Given the description of an element on the screen output the (x, y) to click on. 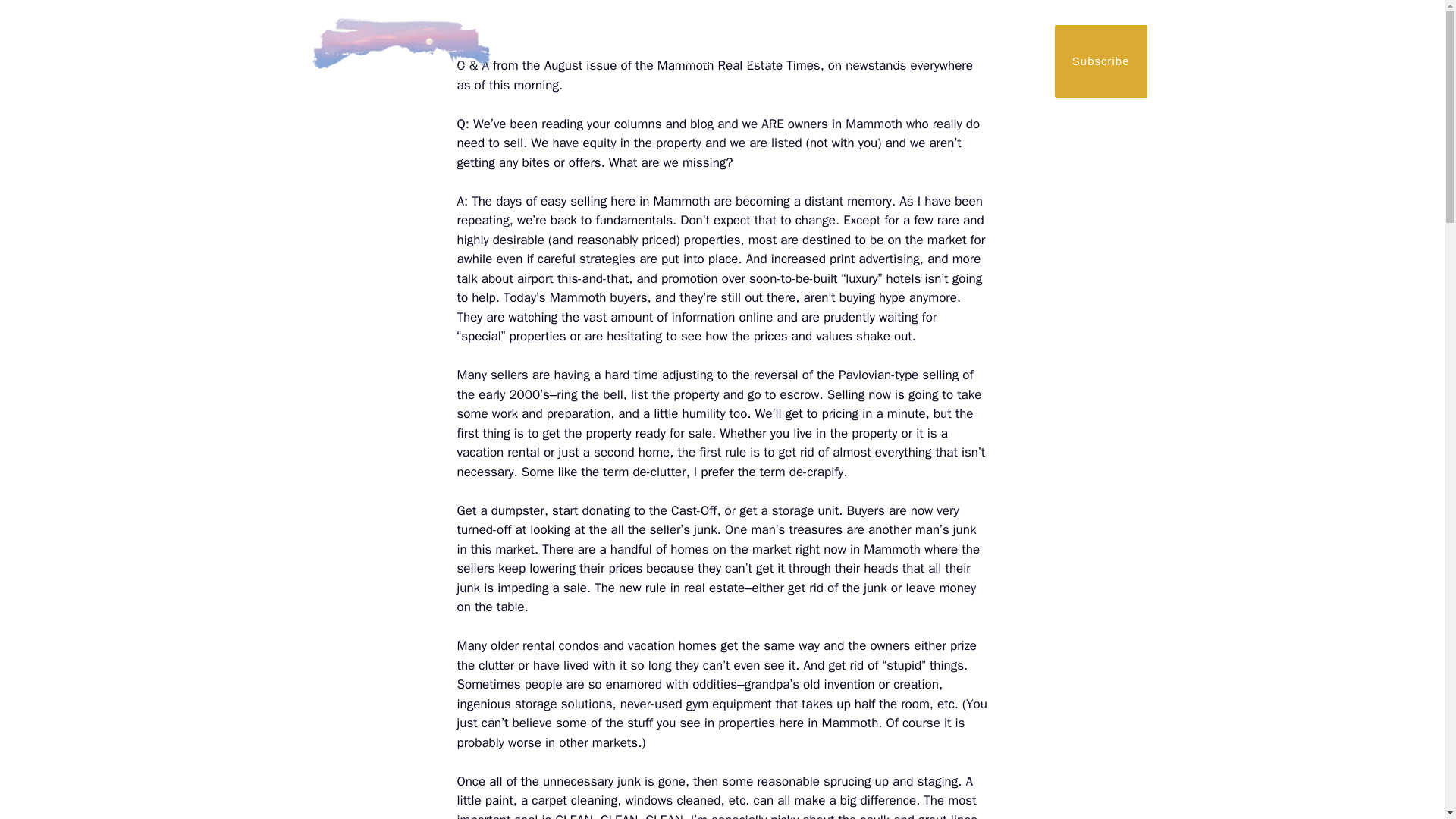
Blog (766, 61)
Subscribe (1100, 61)
About (919, 61)
Contact (998, 61)
Listings (841, 61)
Home (697, 61)
